Given the description of an element on the screen output the (x, y) to click on. 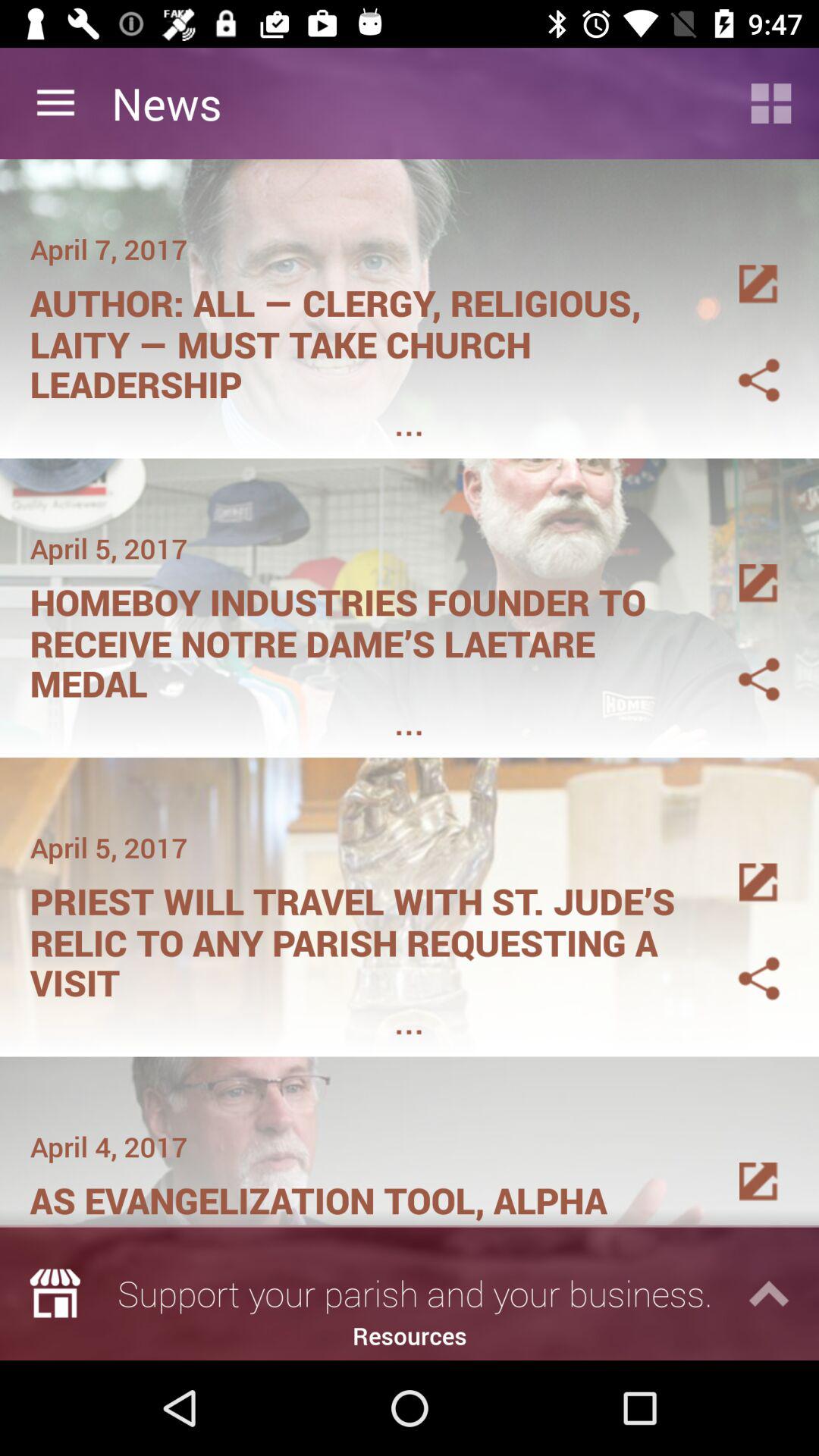
choose item next to news item (55, 103)
